Given the description of an element on the screen output the (x, y) to click on. 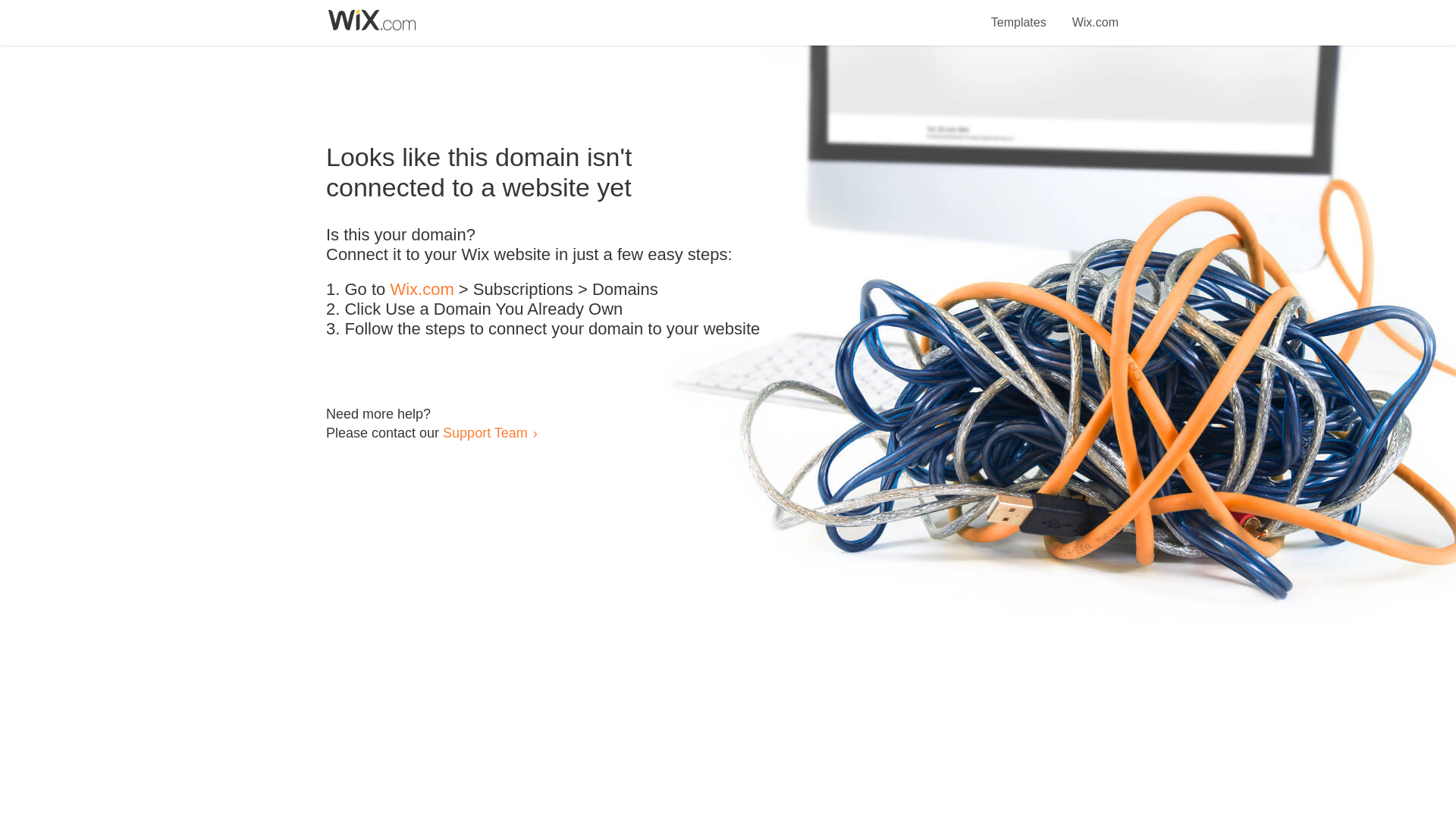
Templates (1018, 14)
Support Team (484, 432)
Wix.com (1095, 14)
Wix.com (421, 289)
